Given the description of an element on the screen output the (x, y) to click on. 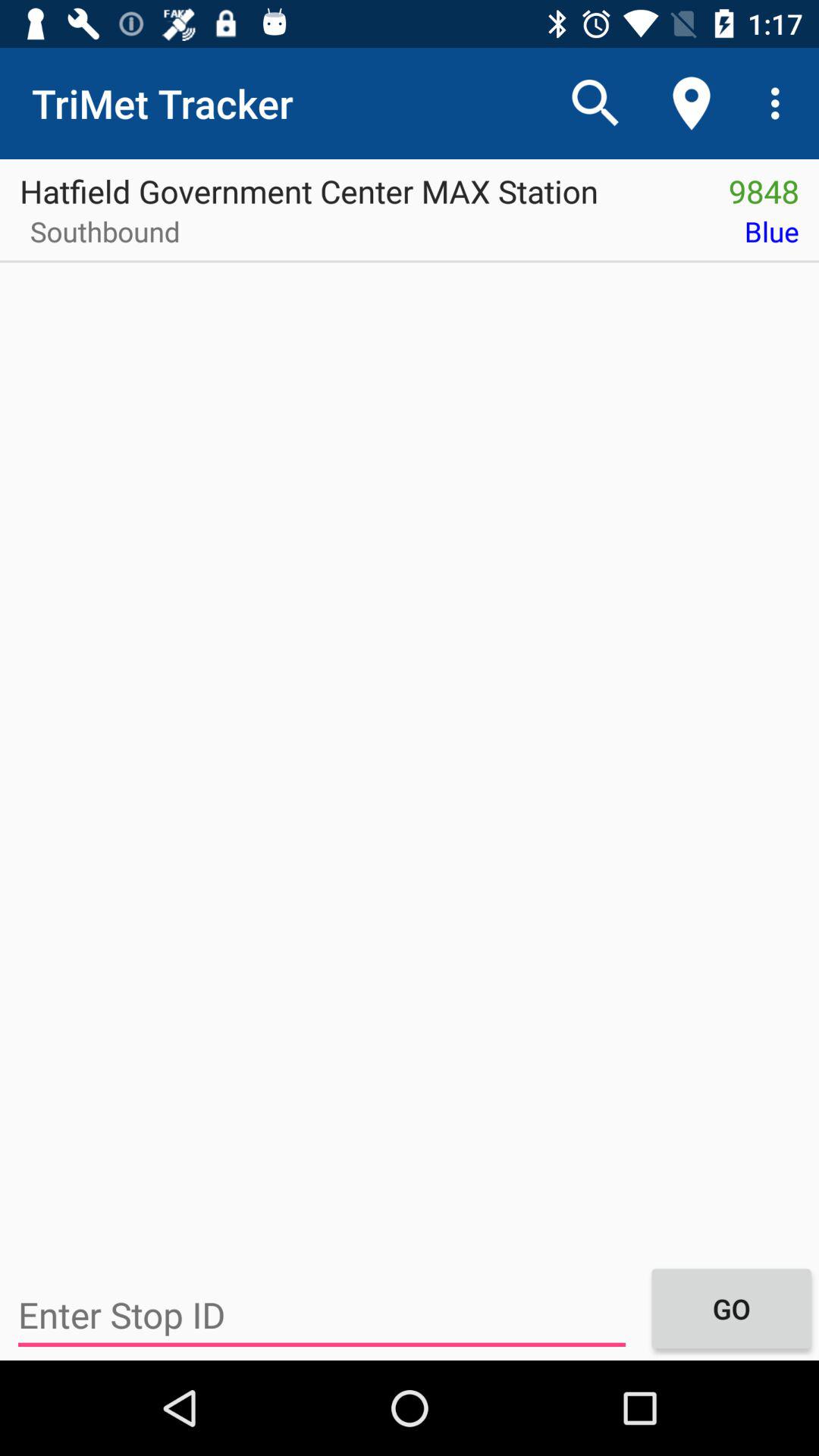
choose the item above the blue icon (763, 185)
